Given the description of an element on the screen output the (x, y) to click on. 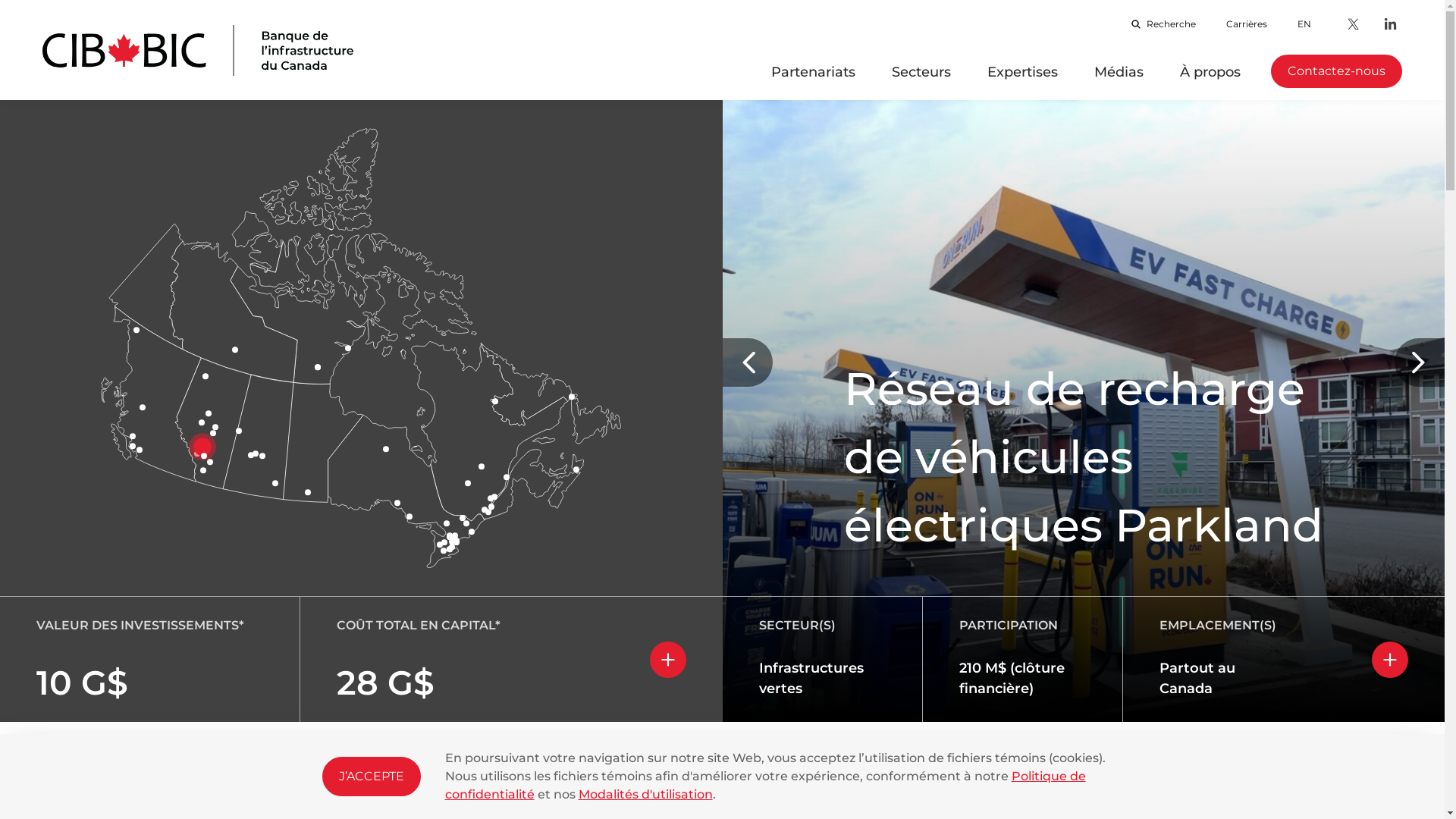
Partenariats Element type: text (813, 81)
Recherche Element type: text (1163, 24)
Secteurs Element type: text (920, 81)
Expertises Element type: text (1022, 81)
EN Element type: text (1304, 23)
Contactez-nous Element type: text (1336, 70)
